Given the description of an element on the screen output the (x, y) to click on. 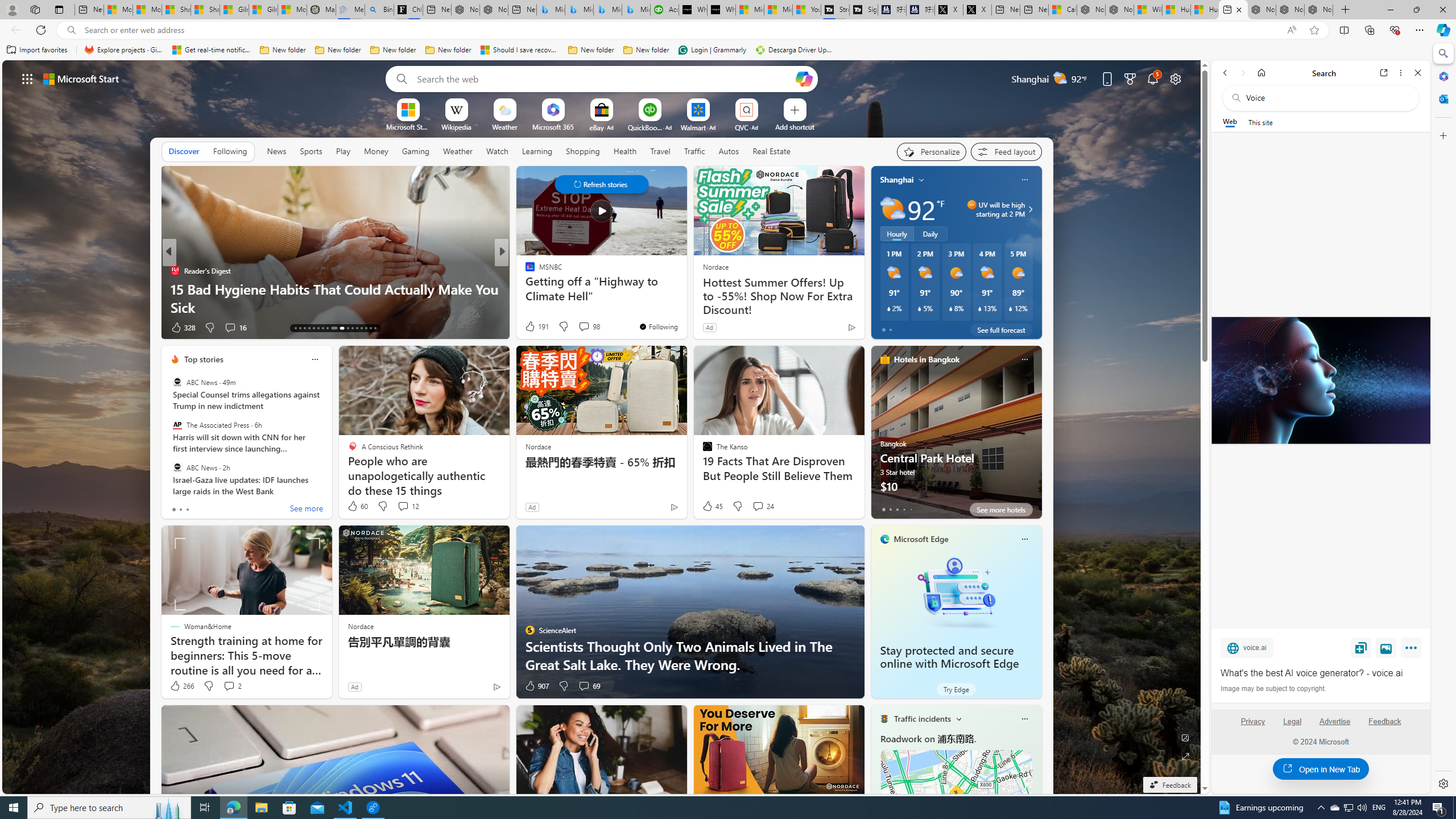
Advertise (1334, 725)
Home (1261, 72)
Real Estate (771, 151)
Partly sunny (892, 208)
Daily (929, 233)
AutomationID: tab-22 (339, 328)
This site scope (1259, 121)
AutomationID: tab-13 (295, 328)
tab-4 (910, 509)
AutomationID: tab-29 (374, 328)
AutomationID: tab-14 (299, 328)
The Why Files (524, 270)
Save (1361, 647)
